Given the description of an element on the screen output the (x, y) to click on. 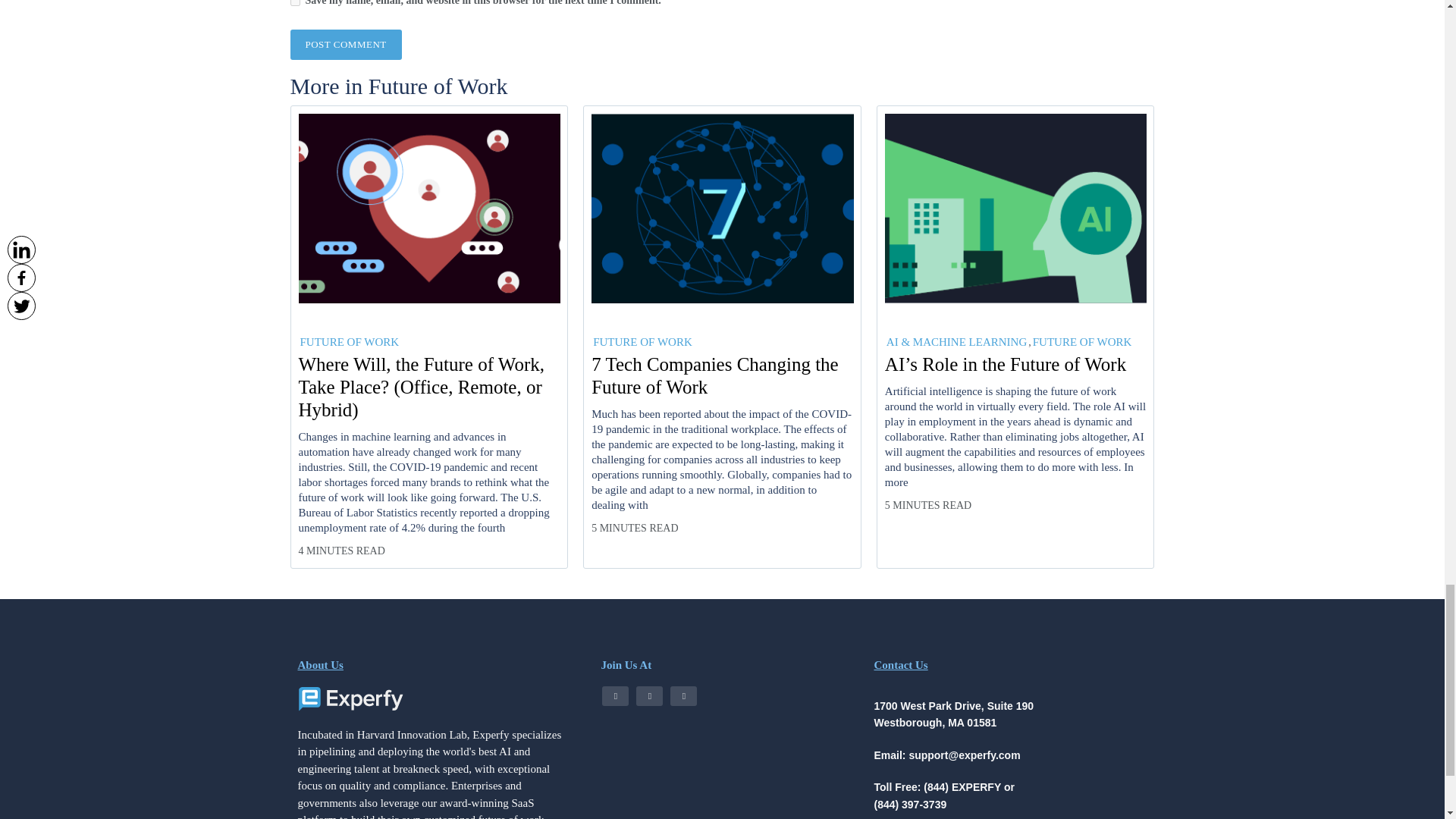
FUTURE OF WORK (348, 341)
FUTURE OF WORK (642, 341)
7 Tech Companies Changing the Future of Work (722, 375)
Post Comment (345, 44)
Post Comment (345, 44)
Future of Work (438, 85)
yes (294, 2)
